Given the description of an element on the screen output the (x, y) to click on. 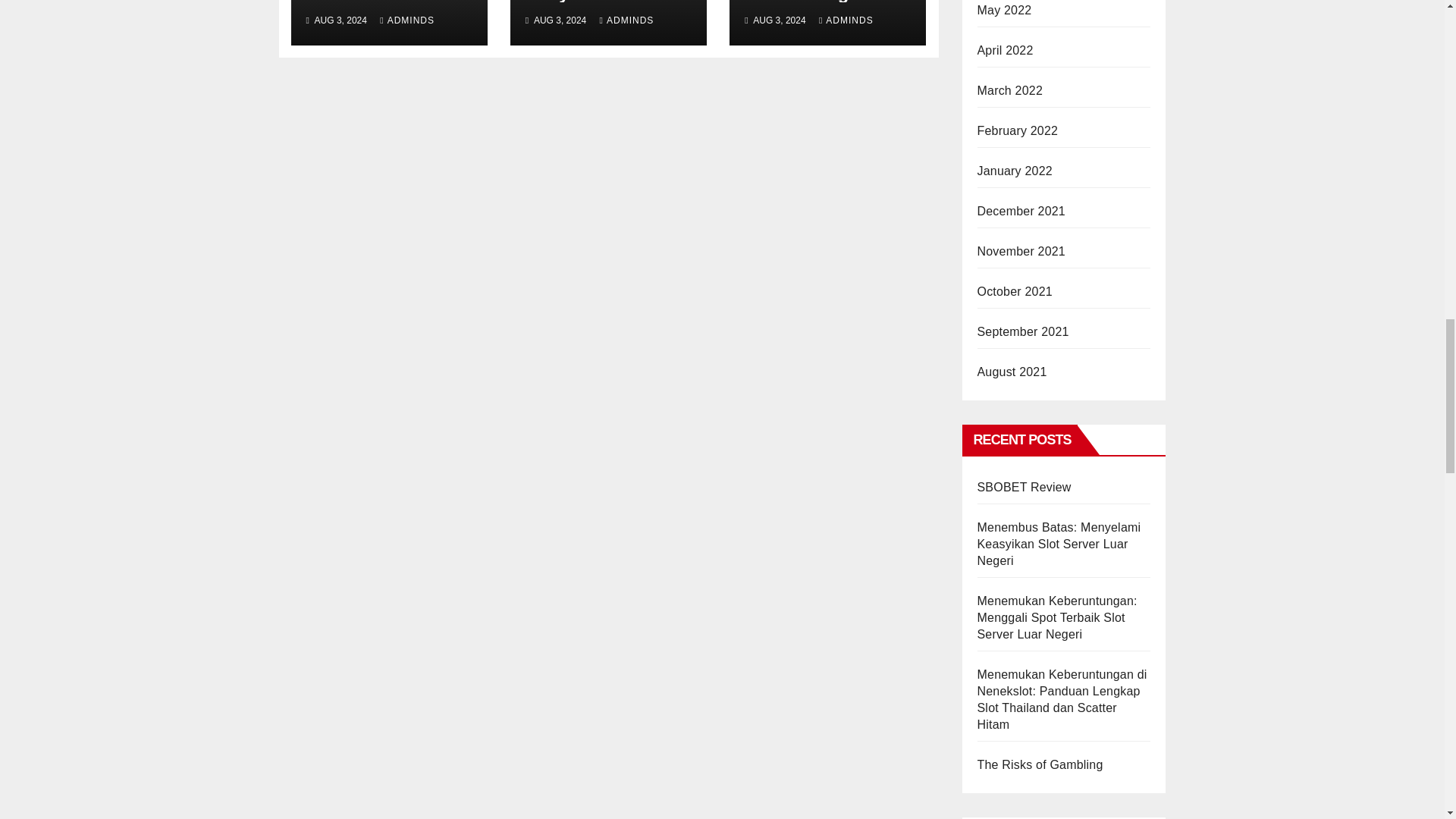
Menembus Batas: Menyelami Keasyikan Slot Server Luar Negeri (598, 20)
ADMINDS (845, 20)
SBOBET Review (371, 1)
ADMINDS (406, 20)
Permalink to: SBOBET Review (371, 1)
ADMINDS (626, 20)
